Given the description of an element on the screen output the (x, y) to click on. 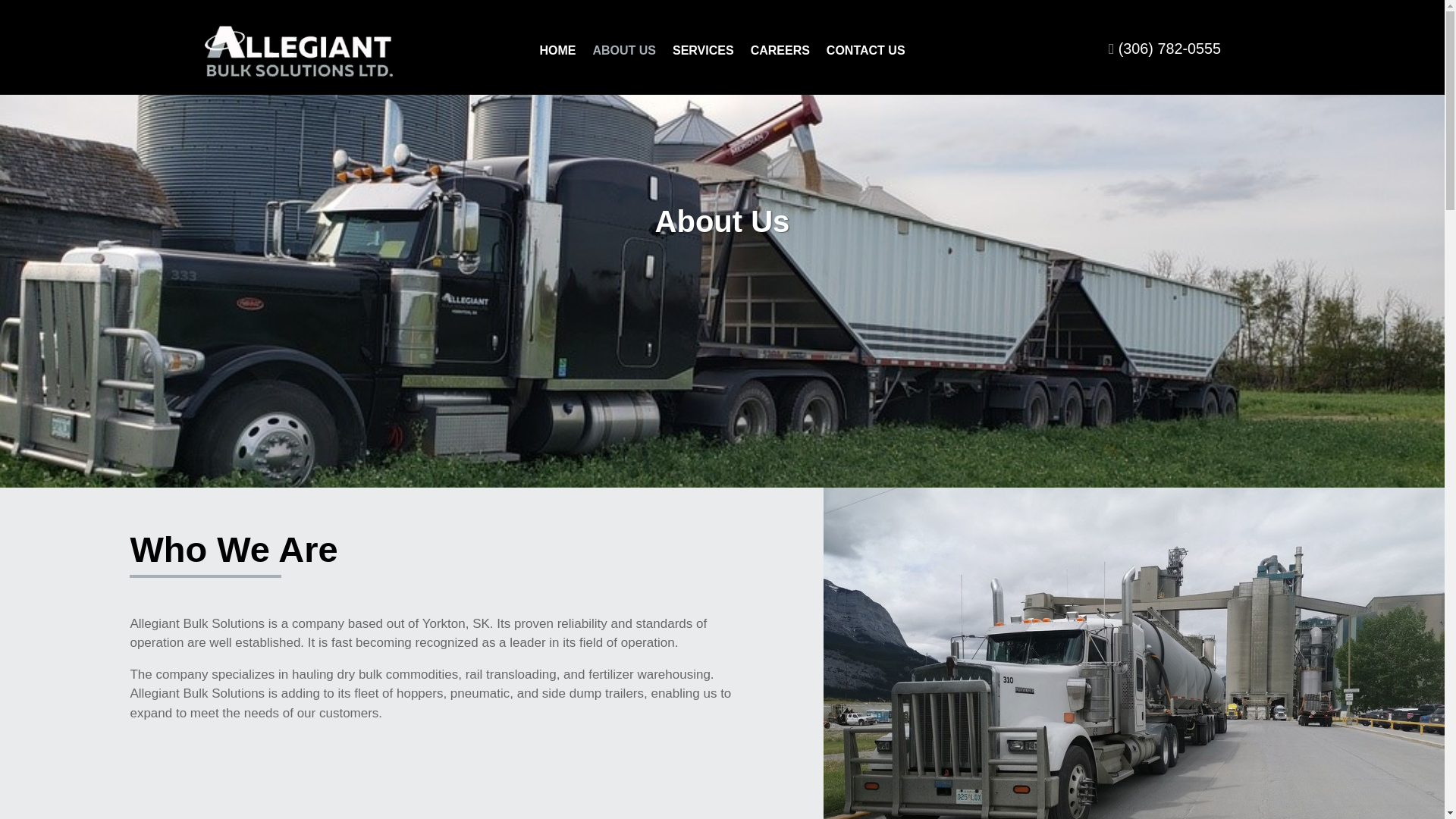
HOME (556, 53)
CAREERS (780, 53)
SERVICES (702, 53)
CONTACT US (866, 53)
Allegian-Logo (298, 51)
ABOUT US (624, 53)
